Given the description of an element on the screen output the (x, y) to click on. 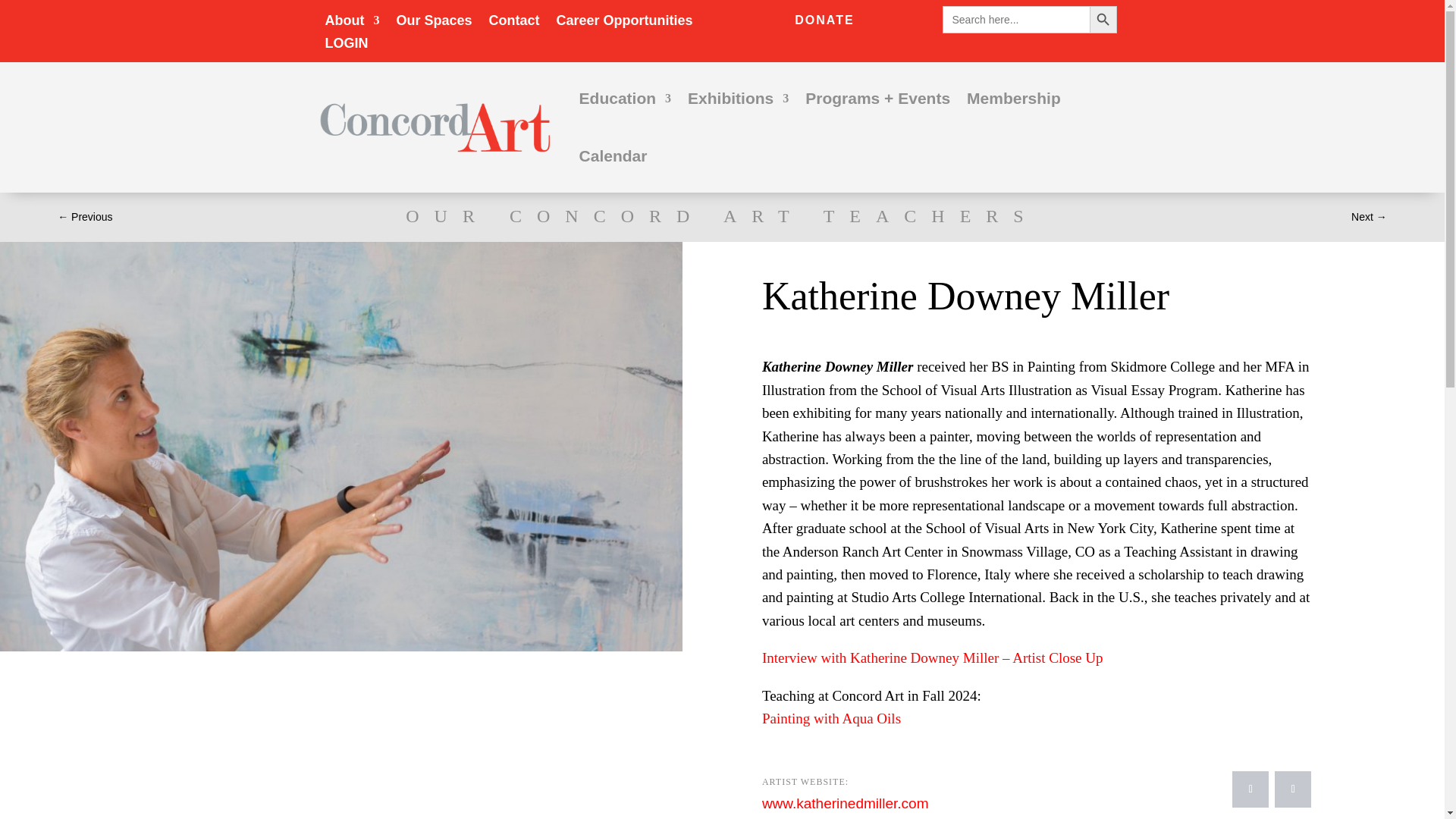
DONATE (823, 18)
Calendar (613, 156)
Career Opportunities (624, 23)
Contact (514, 23)
LOGIN (346, 45)
Search Button (1102, 19)
Membership (1013, 98)
About (351, 23)
Our Spaces (433, 23)
